Given the description of an element on the screen output the (x, y) to click on. 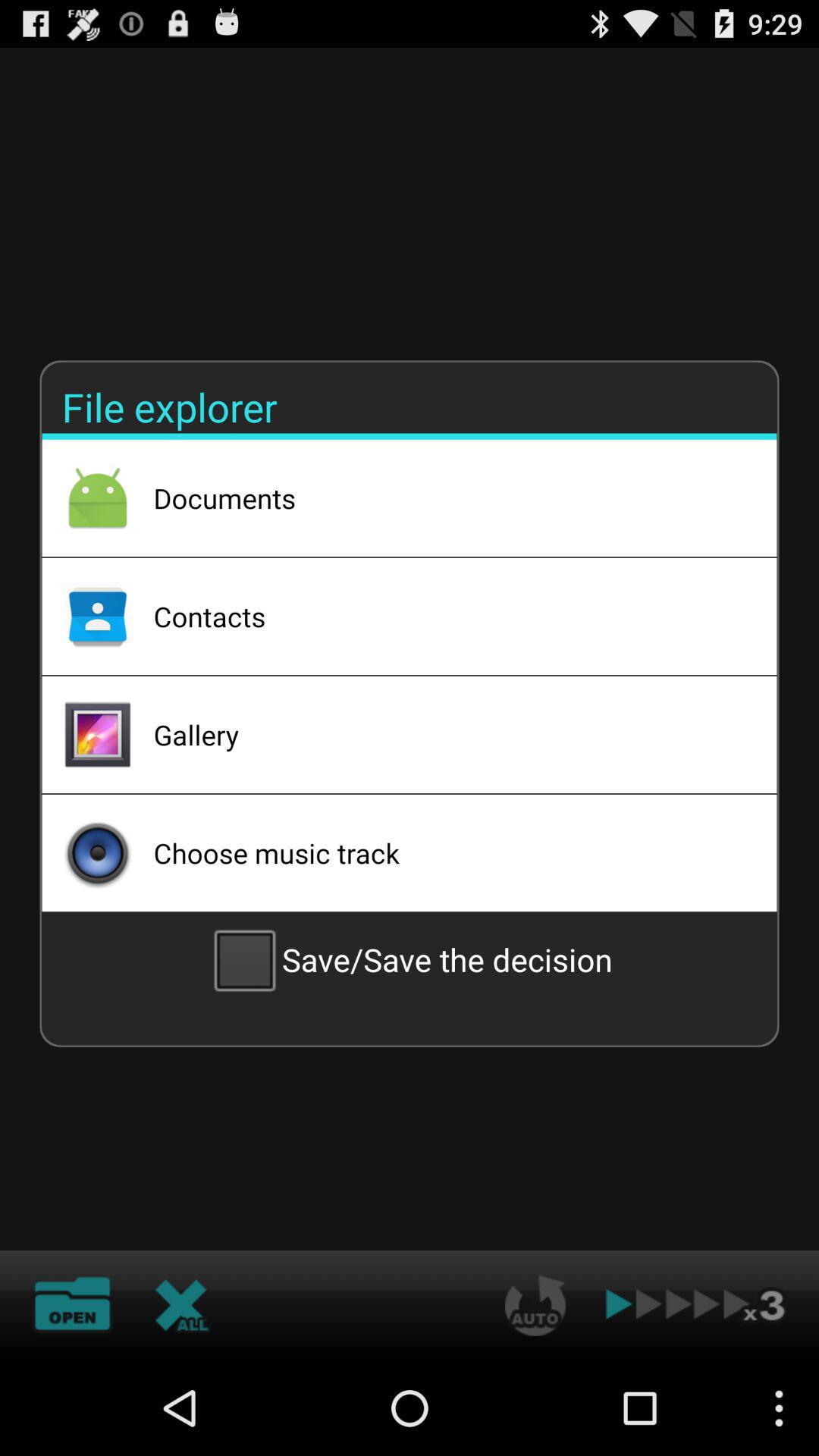
select app below the gallery icon (445, 852)
